Given the description of an element on the screen output the (x, y) to click on. 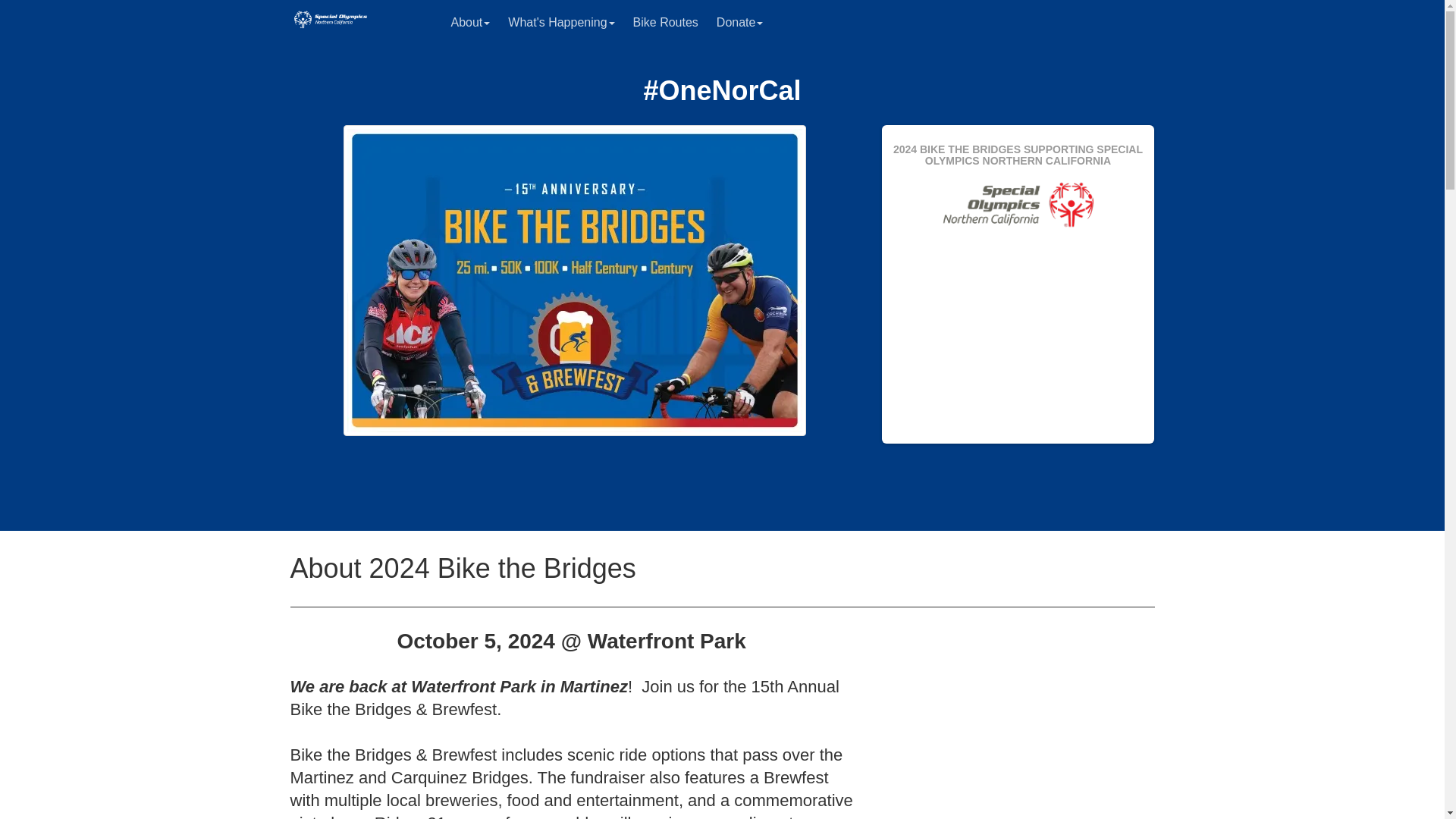
Donate (739, 22)
About (470, 22)
Bike Routes (665, 22)
What's Happening (560, 22)
